Given the description of an element on the screen output the (x, y) to click on. 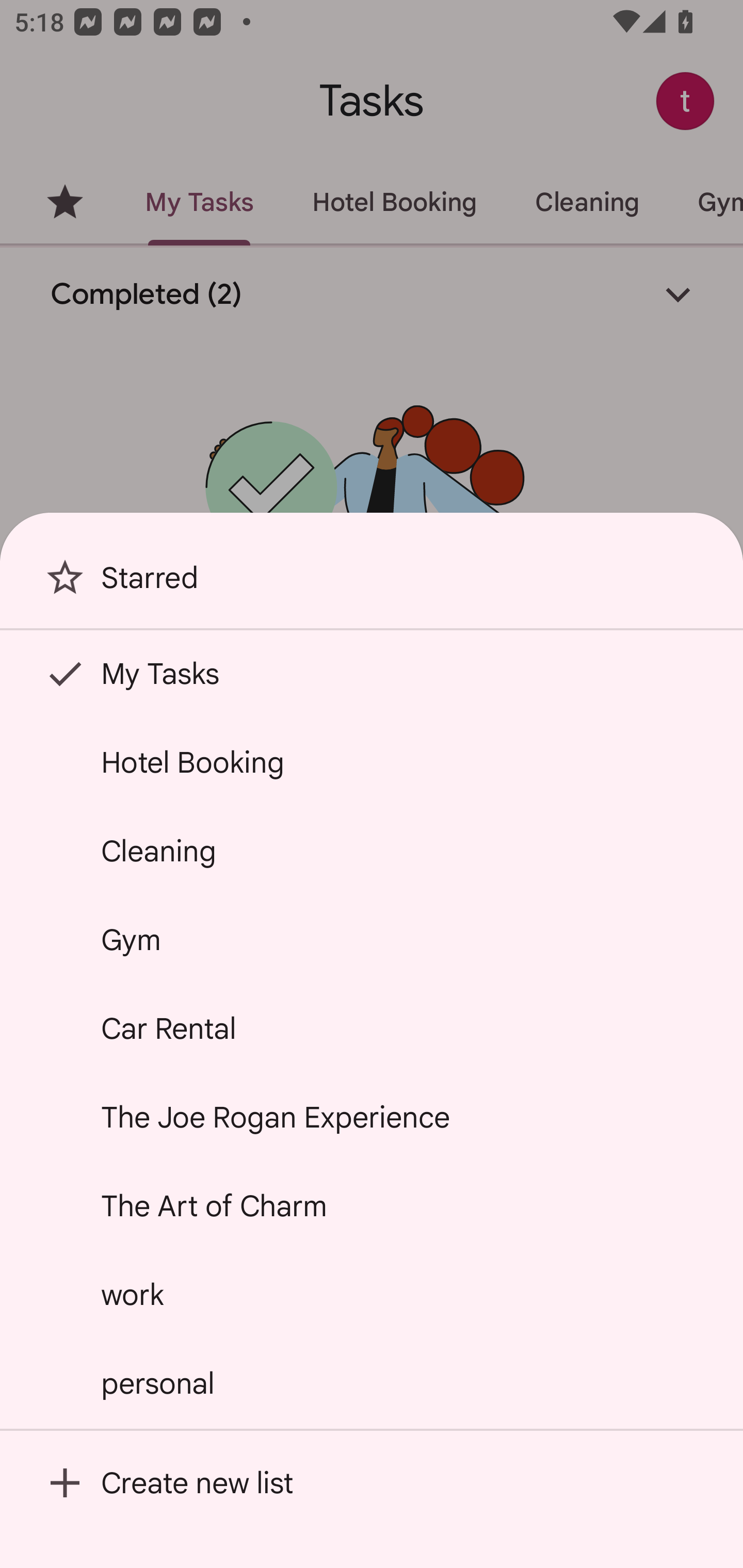
Starred (371, 584)
My Tasks (371, 673)
Hotel Booking (371, 762)
Cleaning (371, 850)
Gym (371, 939)
Car Rental (371, 1028)
The Joe Rogan Experience (371, 1117)
The Art of Charm (371, 1205)
work (371, 1294)
personal (371, 1383)
Create new list (371, 1482)
